Given the description of an element on the screen output the (x, y) to click on. 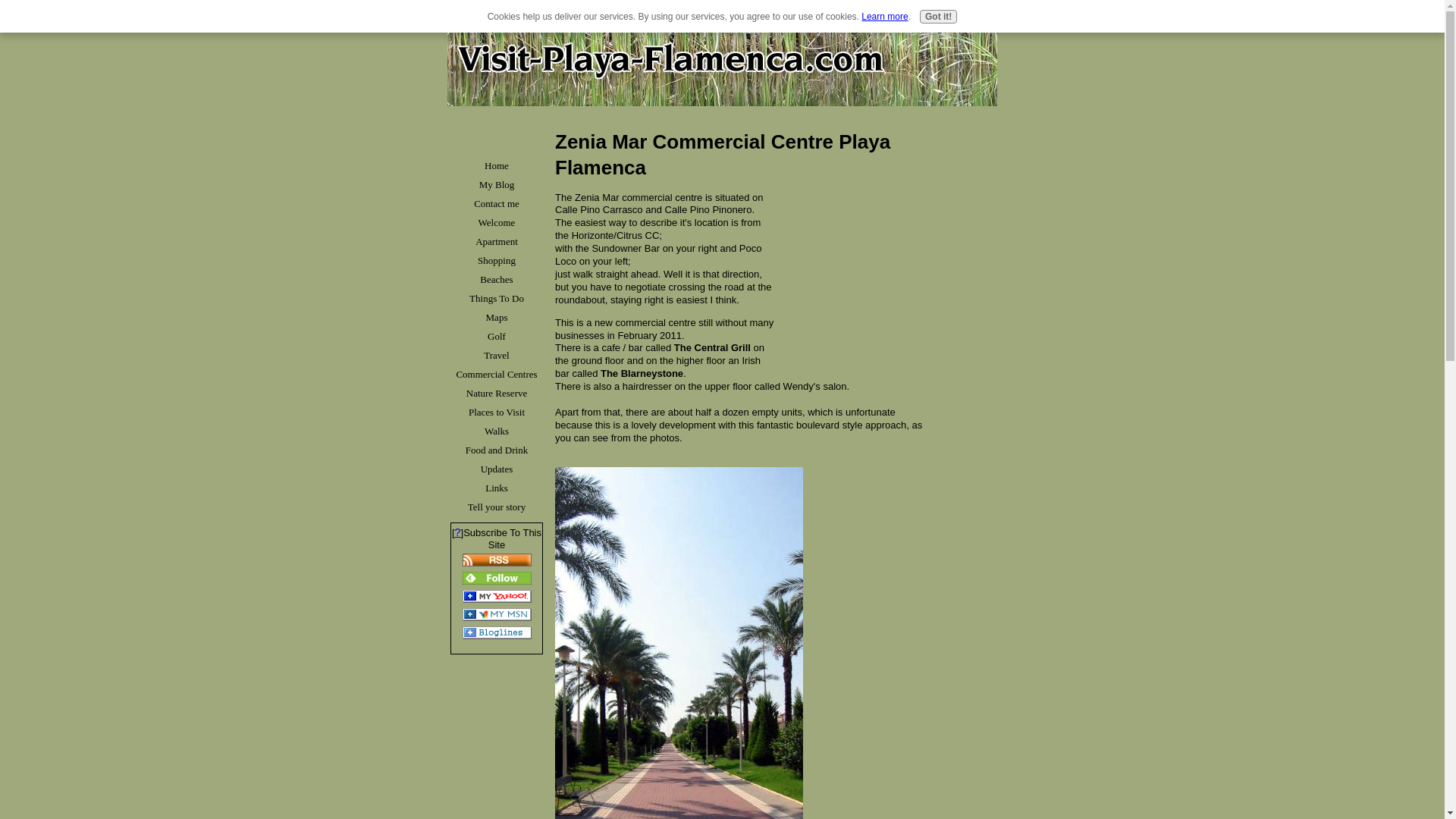
Places to Visit (496, 411)
Got it! (938, 16)
Maps (496, 316)
Golf (496, 335)
Commercial Centres (496, 374)
My Blog (496, 184)
Links (496, 487)
Things To Do (496, 298)
Shopping (496, 260)
Travel (496, 354)
